Given the description of an element on the screen output the (x, y) to click on. 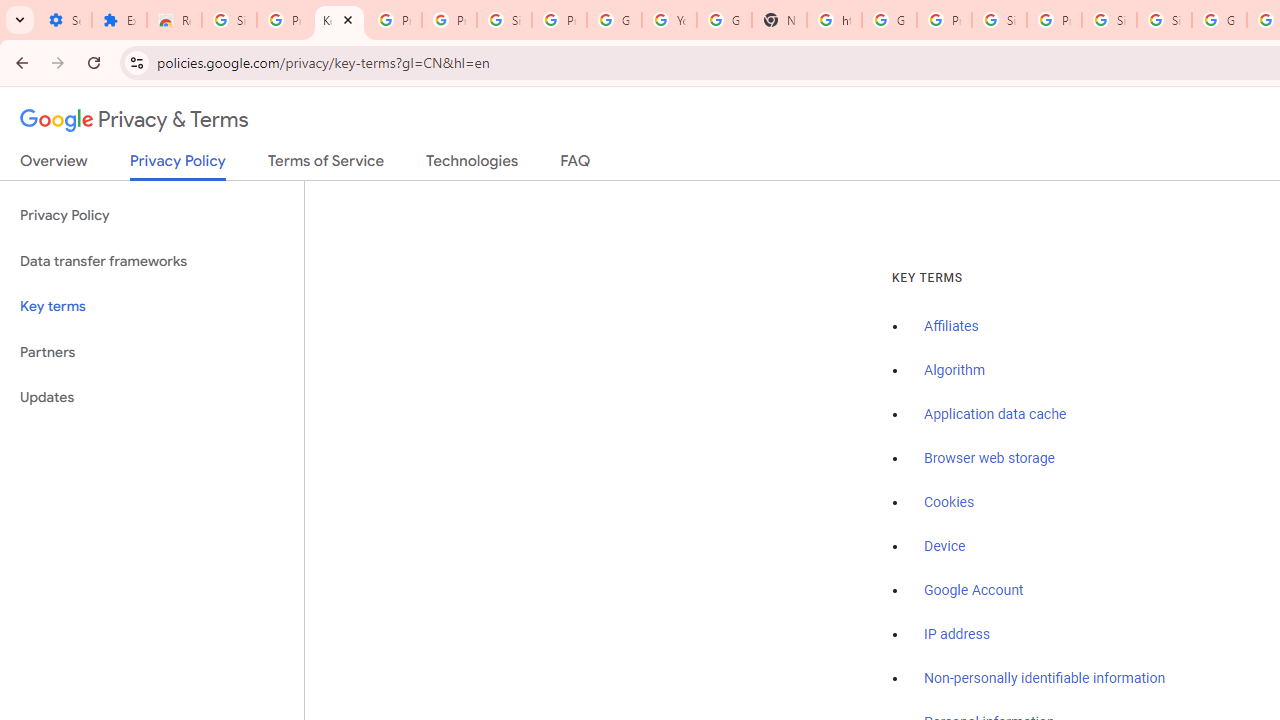
Sign in - Google Accounts (229, 20)
